Given the description of an element on the screen output the (x, y) to click on. 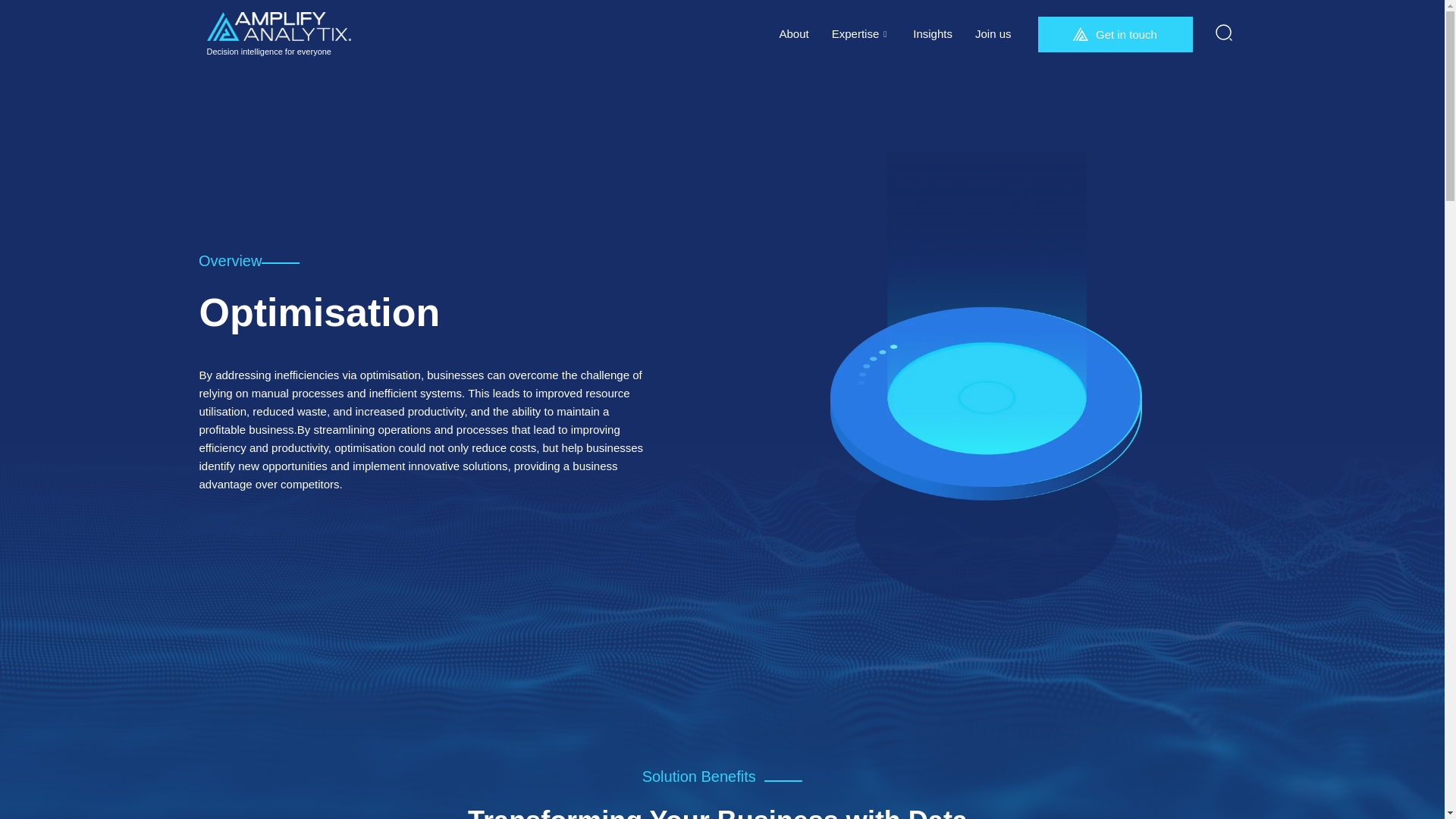
Expertise (861, 33)
Join us (993, 33)
Get in touch (1114, 34)
Insights (932, 33)
About (793, 33)
